Given the description of an element on the screen output the (x, y) to click on. 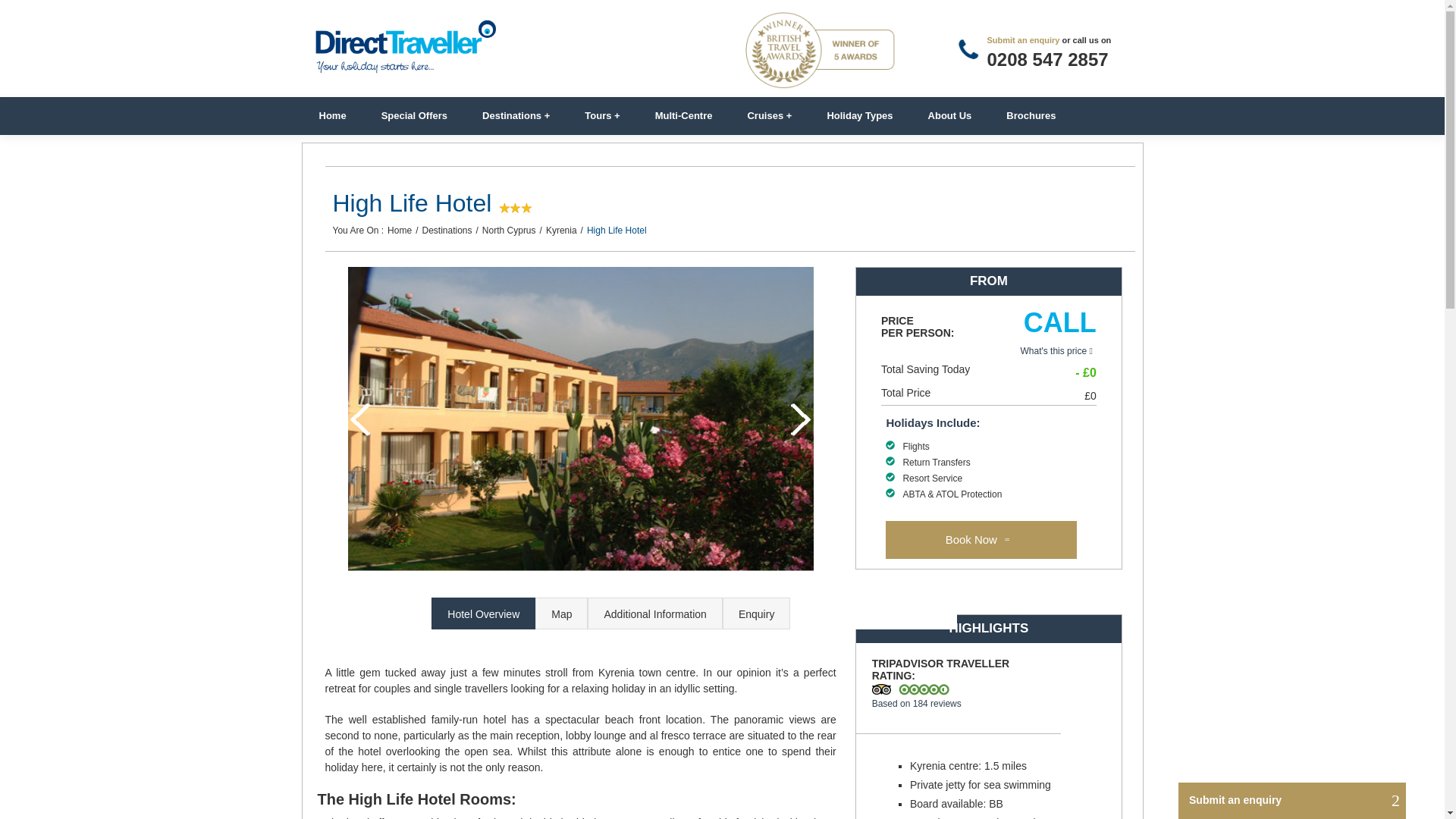
Submit an enquiry or call us on (1023, 40)
Submit an enquiry (1023, 40)
